Given the description of an element on the screen output the (x, y) to click on. 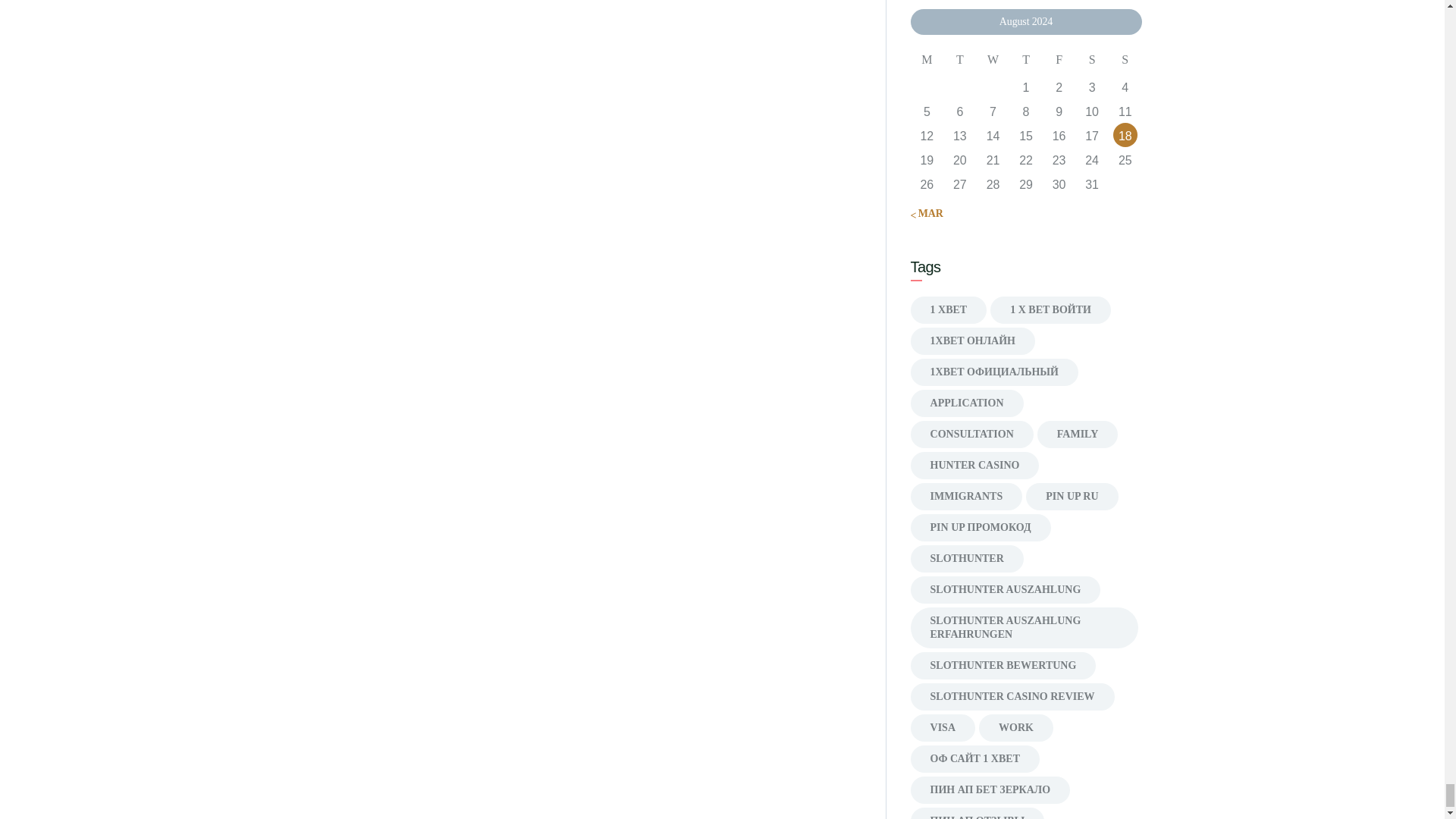
Tuesday (959, 60)
Thursday (1025, 60)
Monday (926, 60)
Sunday (1124, 60)
Saturday (1091, 60)
Wednesday (993, 60)
Friday (1058, 60)
